Given the description of an element on the screen output the (x, y) to click on. 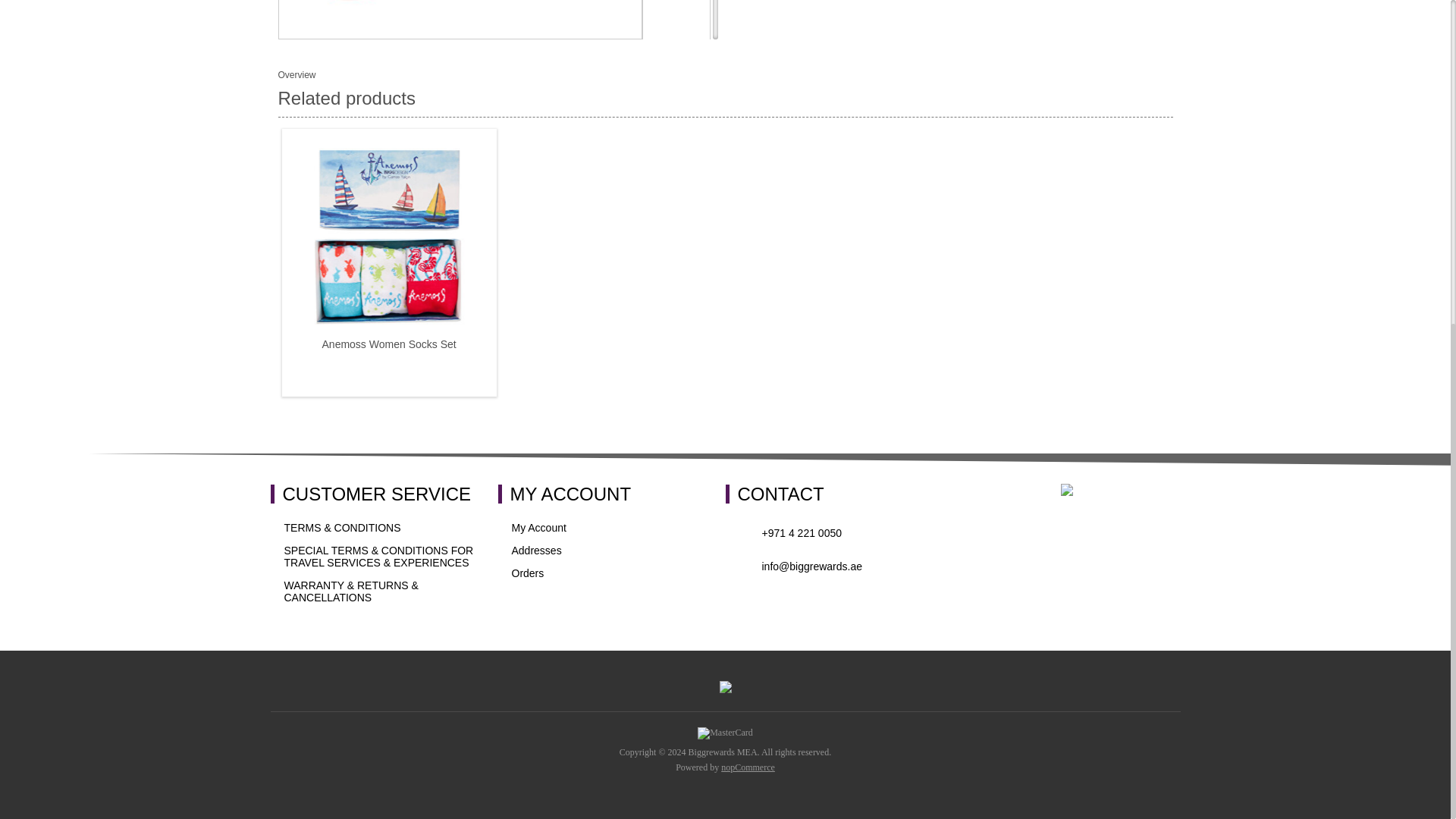
media.product.imagelinktitleformat.details (676, 240)
media.product.imagelinktitleformat.details (460, 19)
media.product.imagelinktitleformat.details (676, 164)
media.product.imagelinktitleformat.details (676, 88)
media.product.imagelinktitleformat.details (676, 22)
